Given the description of an element on the screen output the (x, y) to click on. 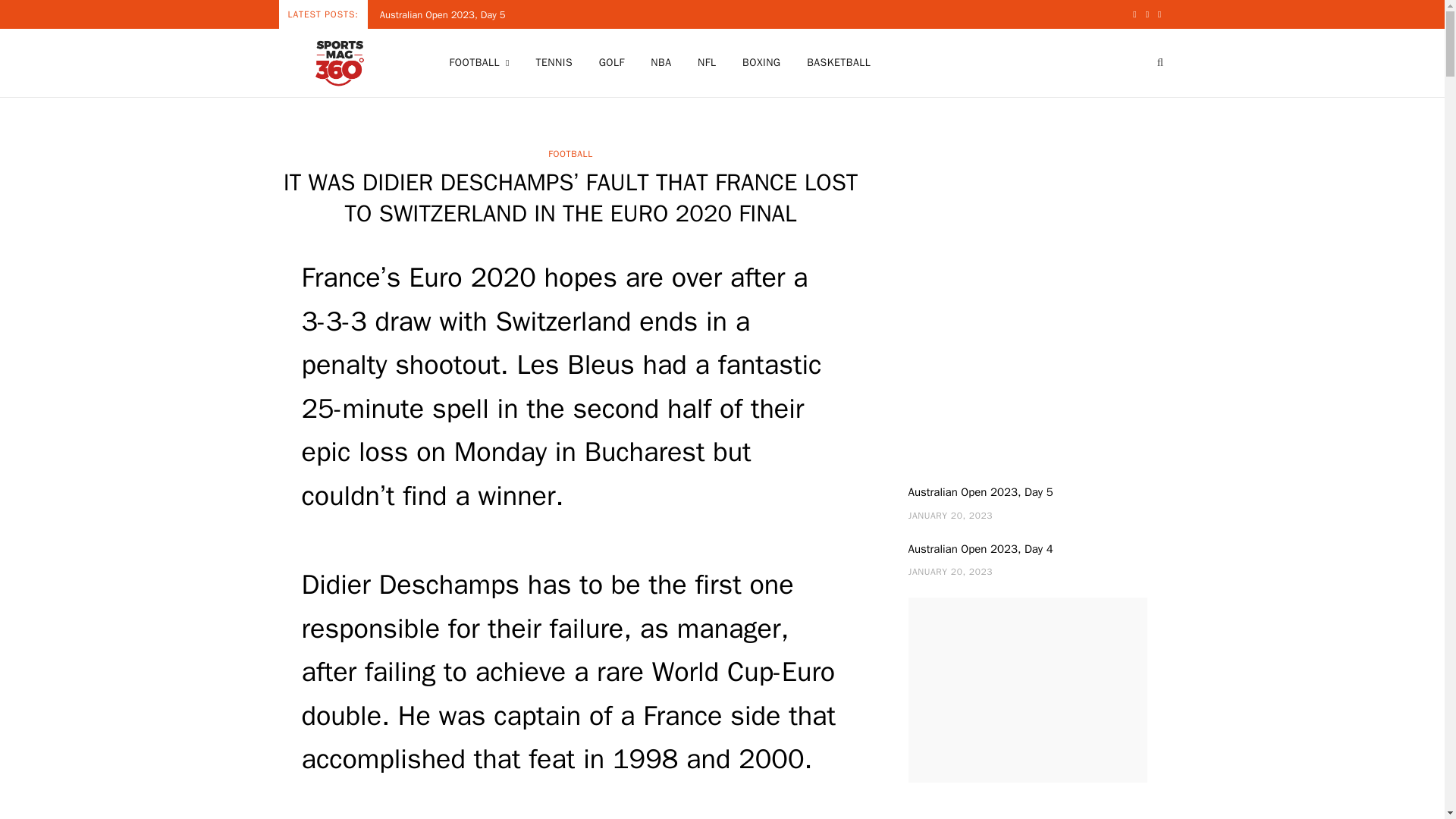
SPORTSMAG360 (339, 62)
Australian Open 2023, Day 5 (446, 15)
BASKETBALL (838, 62)
FOOTBALL (570, 153)
BOXING (761, 62)
Australian Open 2023, Day 5 (446, 15)
FOOTBALL (479, 62)
